Given the description of an element on the screen output the (x, y) to click on. 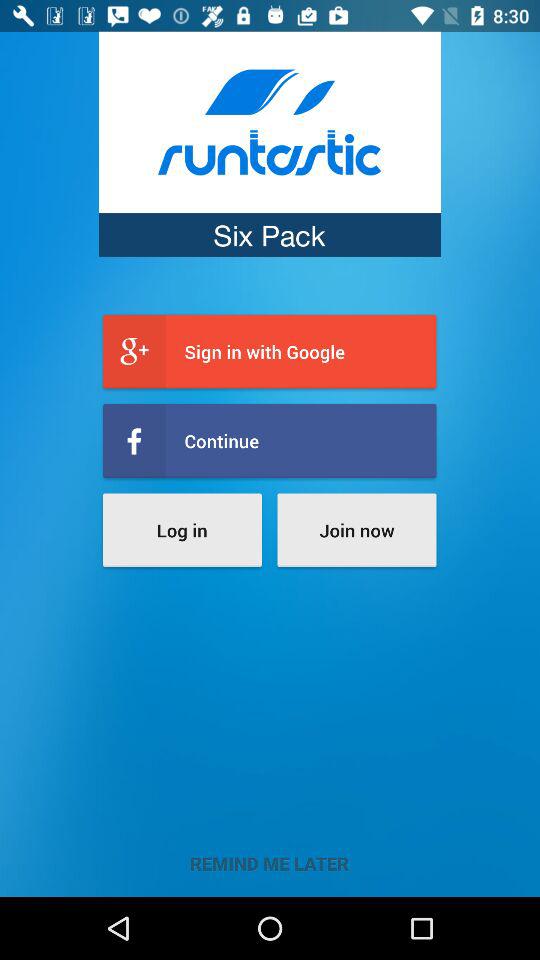
open the join now item (356, 529)
